Given the description of an element on the screen output the (x, y) to click on. 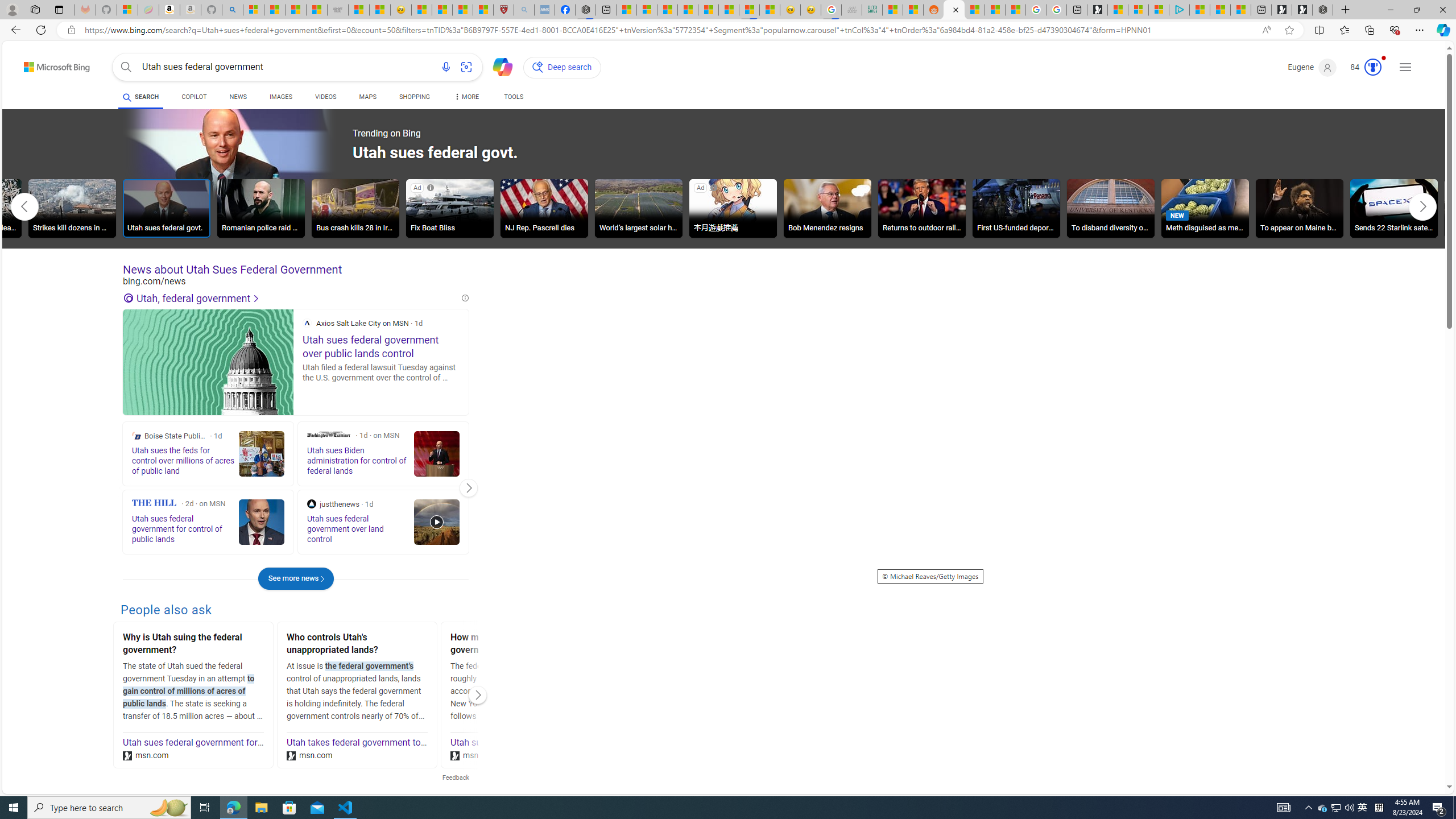
Search button (126, 66)
First US-funded deportation (1015, 207)
NJ Rep. Pascrell dies (544, 209)
SHOPPING (414, 98)
